Given the description of an element on the screen output the (x, y) to click on. 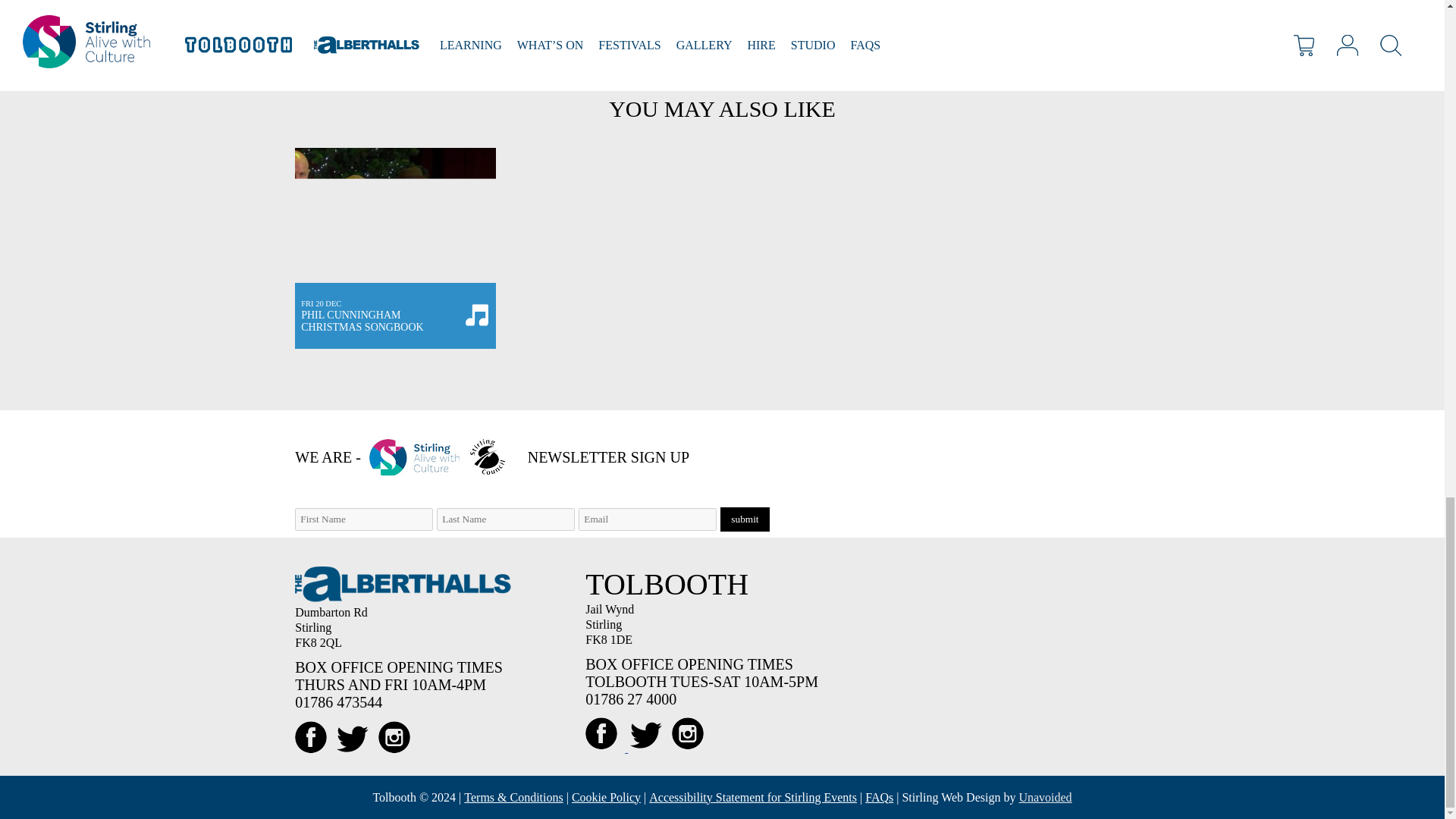
FAQs (878, 796)
Accessibility Statement for Stirling Events (753, 796)
Cookie Policy (606, 796)
submit (744, 518)
submit (744, 518)
Unavoided (395, 248)
